Given the description of an element on the screen output the (x, y) to click on. 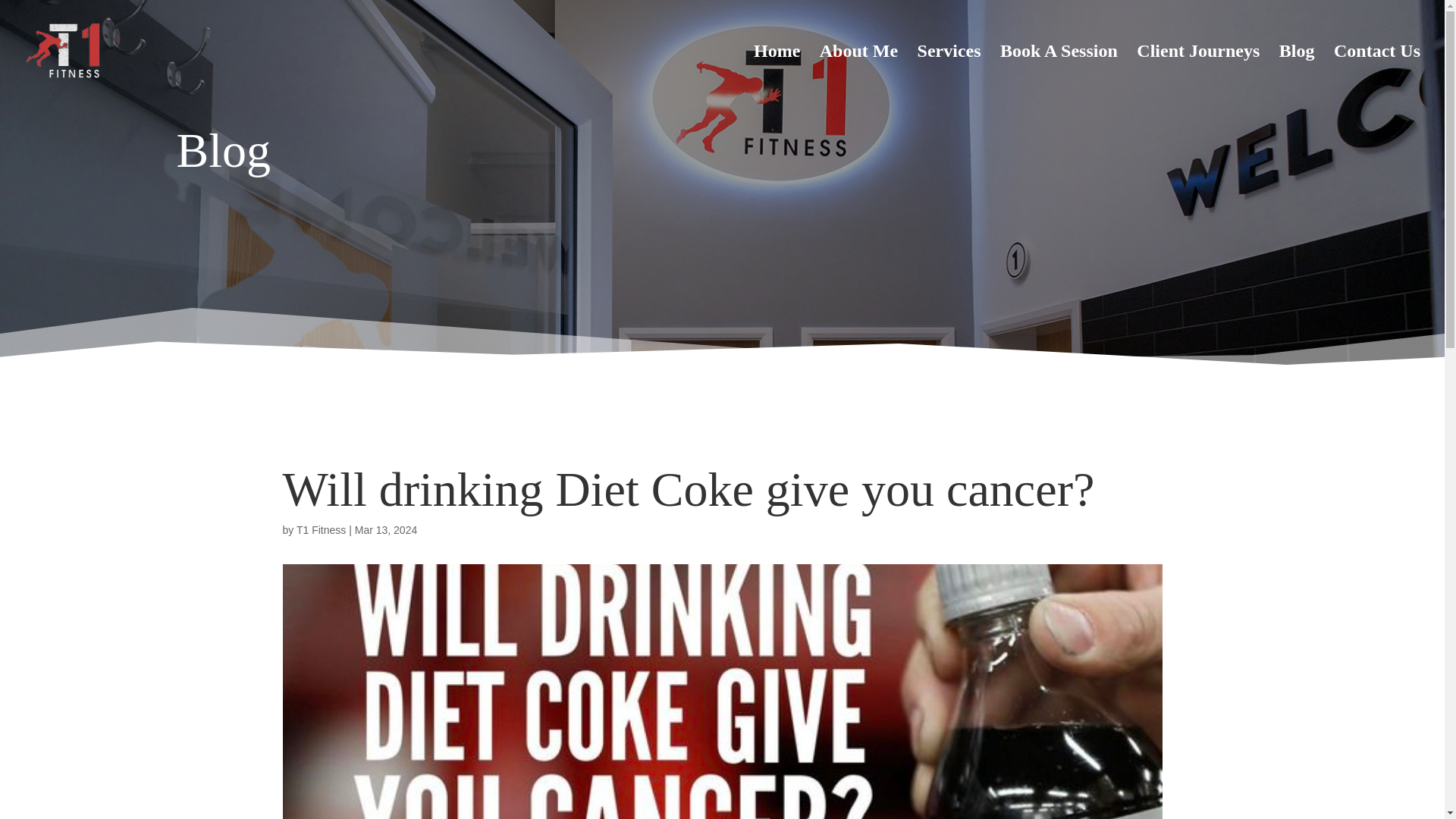
Client Journeys (1198, 73)
Posts by T1 Fitness (321, 530)
Contact Us (1377, 73)
About Me (858, 73)
Book A Session (1059, 73)
Services (949, 73)
T1 Fitness (321, 530)
